Given the description of an element on the screen output the (x, y) to click on. 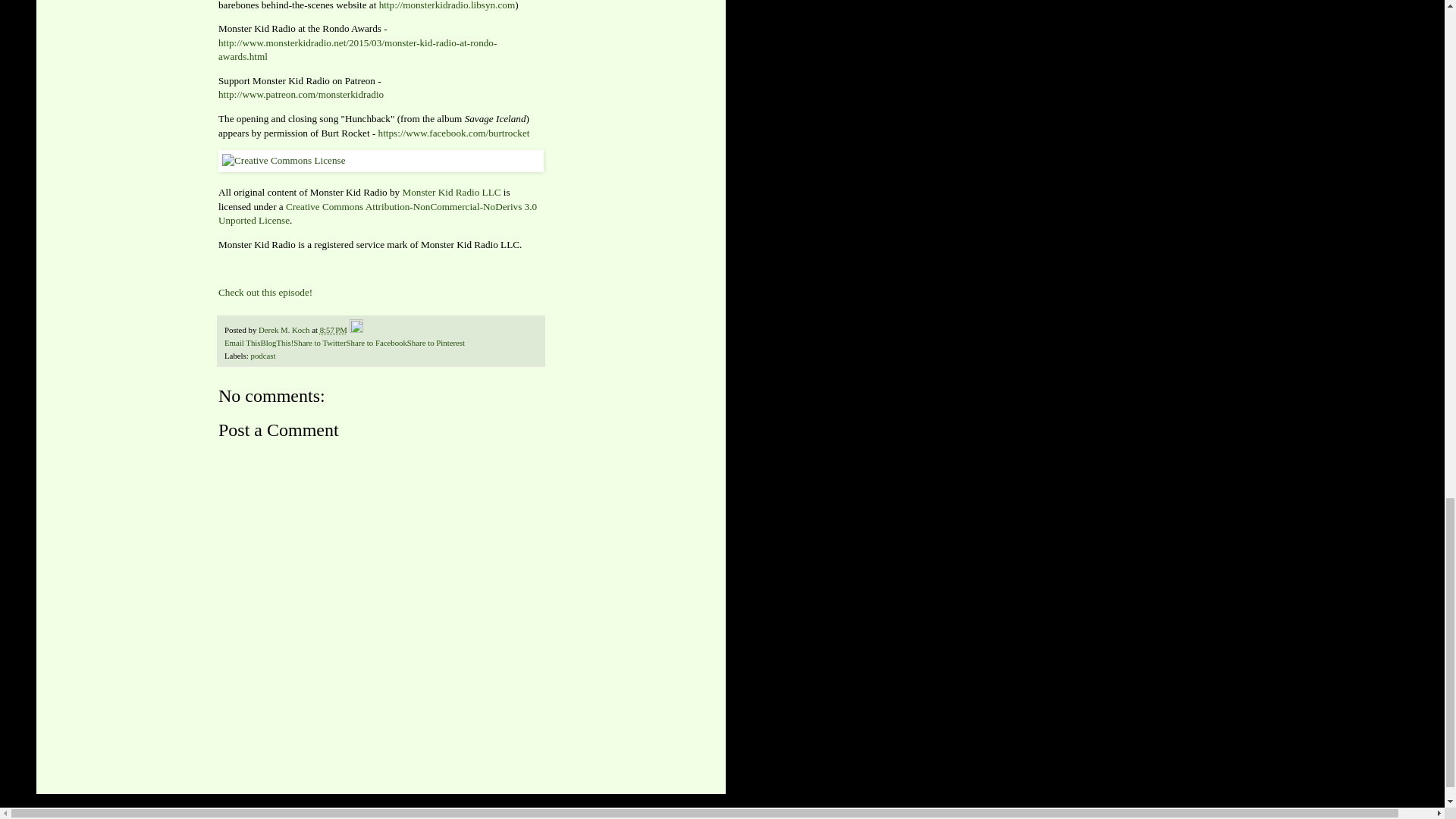
Share to Twitter (320, 342)
Email This (242, 342)
Monster Kid Radio LLC (450, 192)
Share to Facebook (376, 342)
Share to Pinterest (435, 342)
BlogThis! (277, 342)
Derek M. Koch (285, 329)
Share to Twitter (320, 342)
Share to Pinterest (435, 342)
Email This (242, 342)
Check out this episode! (265, 292)
Edit Post (355, 329)
BlogThis! (277, 342)
author profile (285, 329)
